Given the description of an element on the screen output the (x, y) to click on. 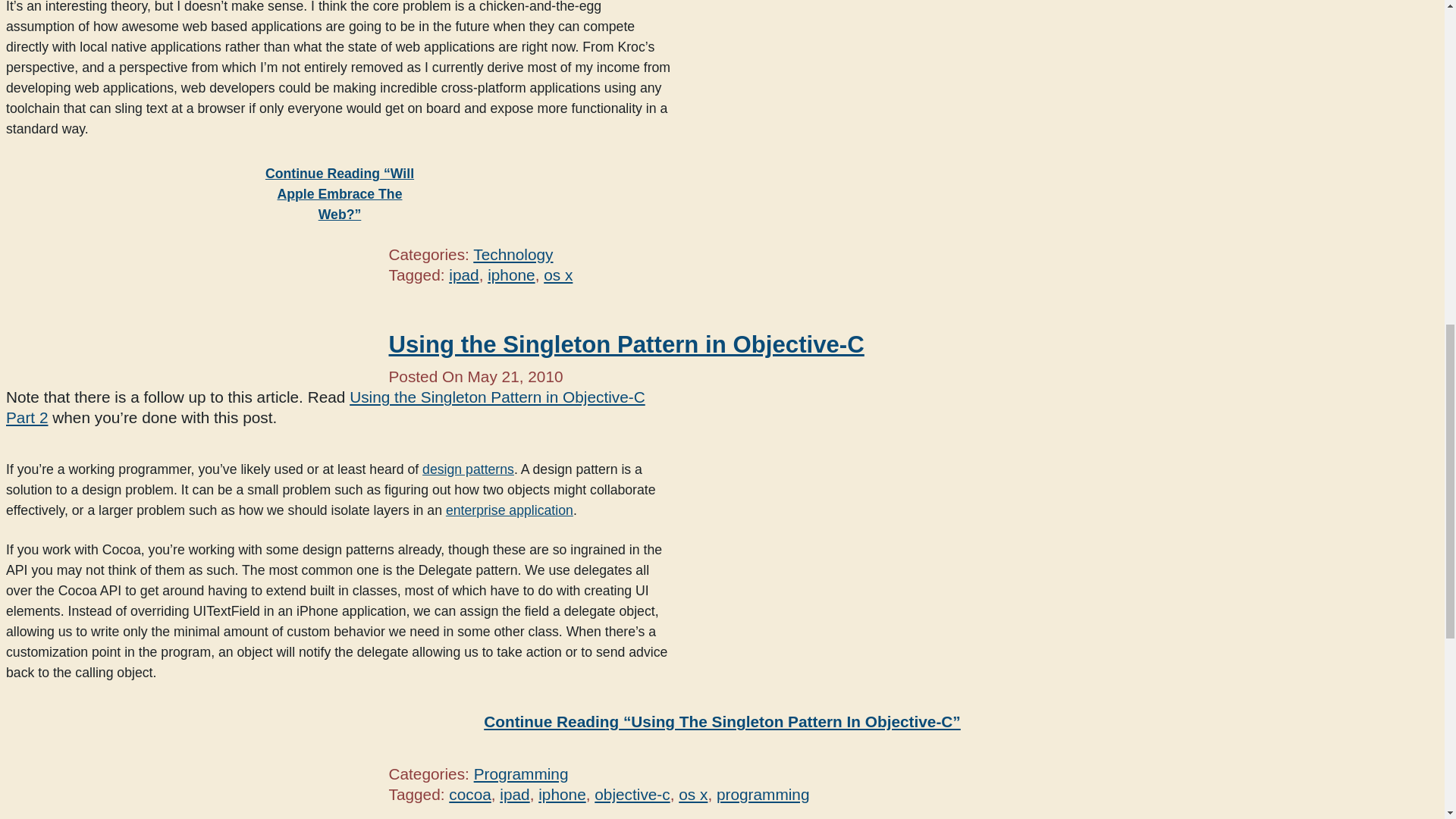
iphone (561, 794)
cocoa (470, 794)
enterprise application (509, 509)
ipad (514, 794)
objective-c (631, 794)
iphone (510, 274)
design patterns (467, 468)
ipad (463, 274)
programming (762, 794)
os x (692, 794)
os x (557, 274)
Technology (513, 253)
Programming (521, 773)
Using the Singleton Pattern in Objective-C (625, 344)
Using the Singleton Pattern in Objective-C Part 2 (325, 406)
